Given the description of an element on the screen output the (x, y) to click on. 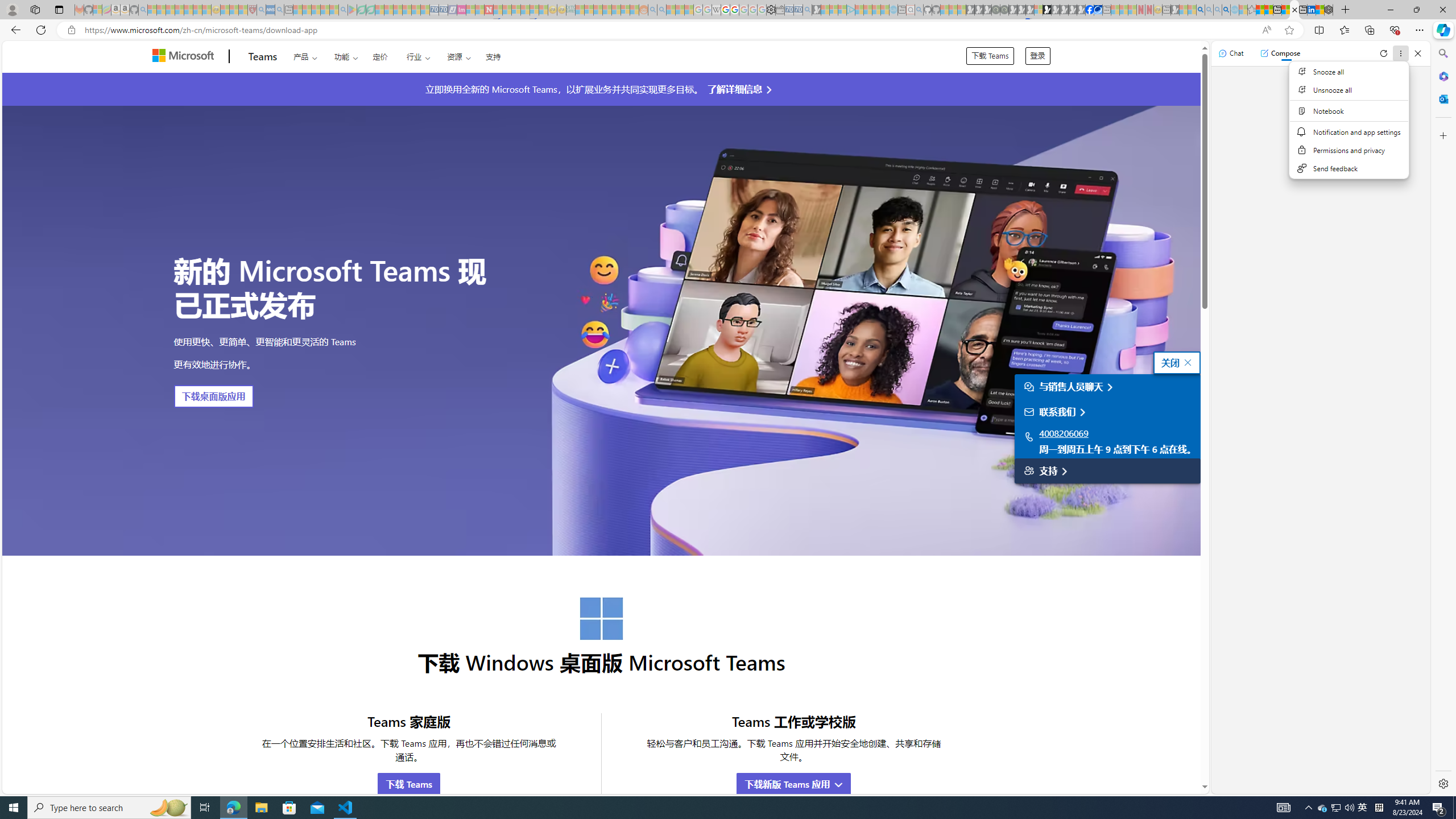
Microsoft Start Gaming - Sleeping (815, 9)
MSN - Sleeping (1174, 9)
MSNBC - MSN - Sleeping (579, 9)
LinkedIn (1311, 9)
